Given the description of an element on the screen output the (x, y) to click on. 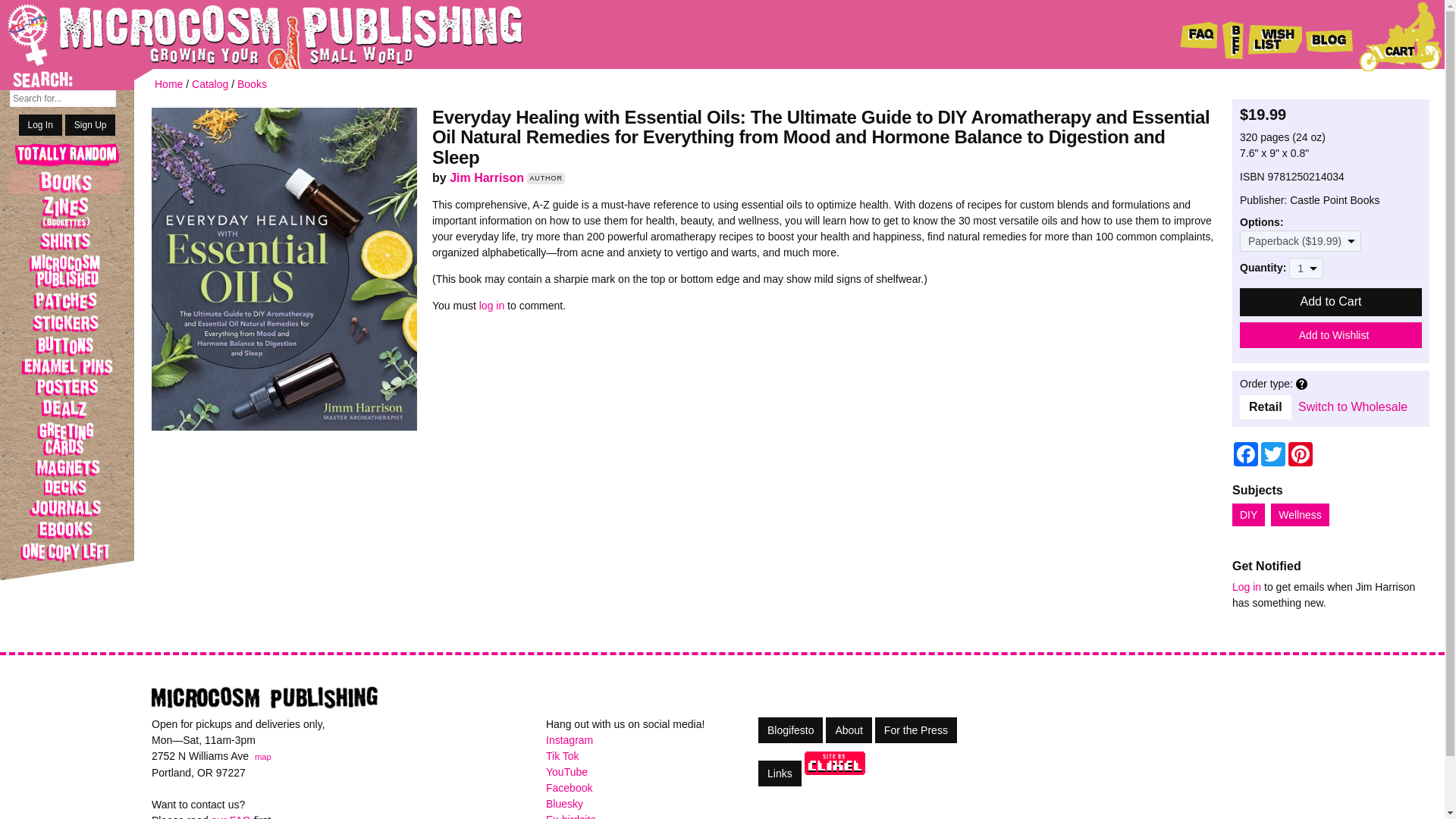
Sign Up (90, 124)
Add to Cart (1331, 302)
Totally Random (66, 156)
Books (66, 181)
back to Microcosm Publishing homepage (242, 34)
Log In (40, 124)
cart (1399, 36)
Zines (66, 212)
Jump to totally random title (66, 156)
Add to Wishlist (1331, 335)
